Given the description of an element on the screen output the (x, y) to click on. 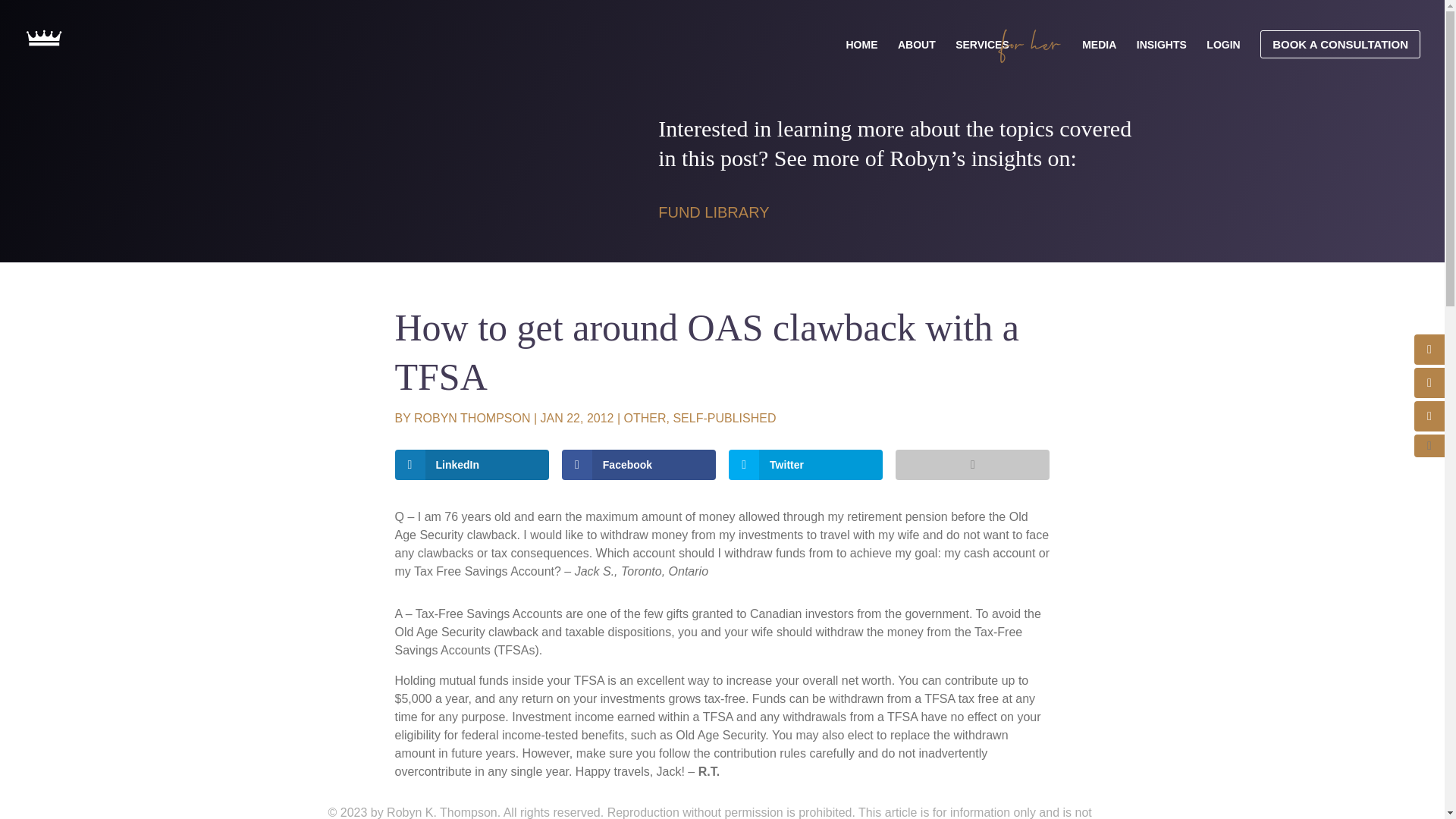
FUND LIBRARY (713, 211)
LOGIN (1223, 52)
OTHER (645, 418)
ROBYN THOMPSON (472, 418)
BOOK A CONSULTATION (1340, 44)
INSIGHTS (1161, 52)
Twitter (805, 464)
LinkedIn (471, 464)
MEDIA (1098, 52)
Posts by Robyn Thompson (472, 418)
